Given the description of an element on the screen output the (x, y) to click on. 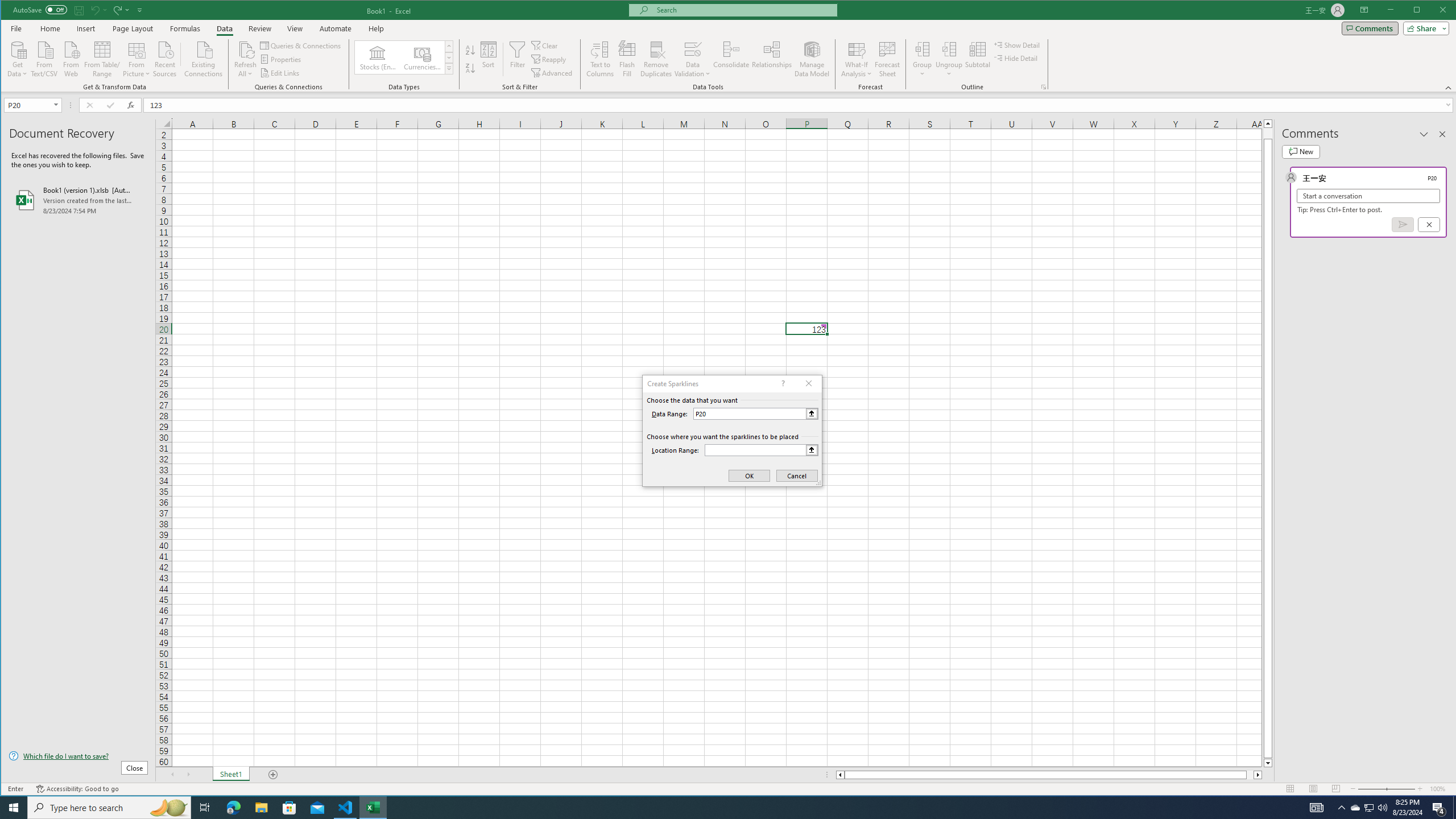
Stocks (English) (377, 57)
Post comment (Ctrl + Enter) (1402, 224)
Start a conversation (1368, 195)
Existing Connections (203, 57)
Ribbon Display Options (1364, 9)
Manage Data Model (812, 59)
Sort Smallest to Largest (470, 49)
View (294, 28)
Name Box (27, 104)
Get Data (17, 57)
Group and Outline Settings (1043, 86)
File Tab (16, 27)
Sort... (488, 59)
